Given the description of an element on the screen output the (x, y) to click on. 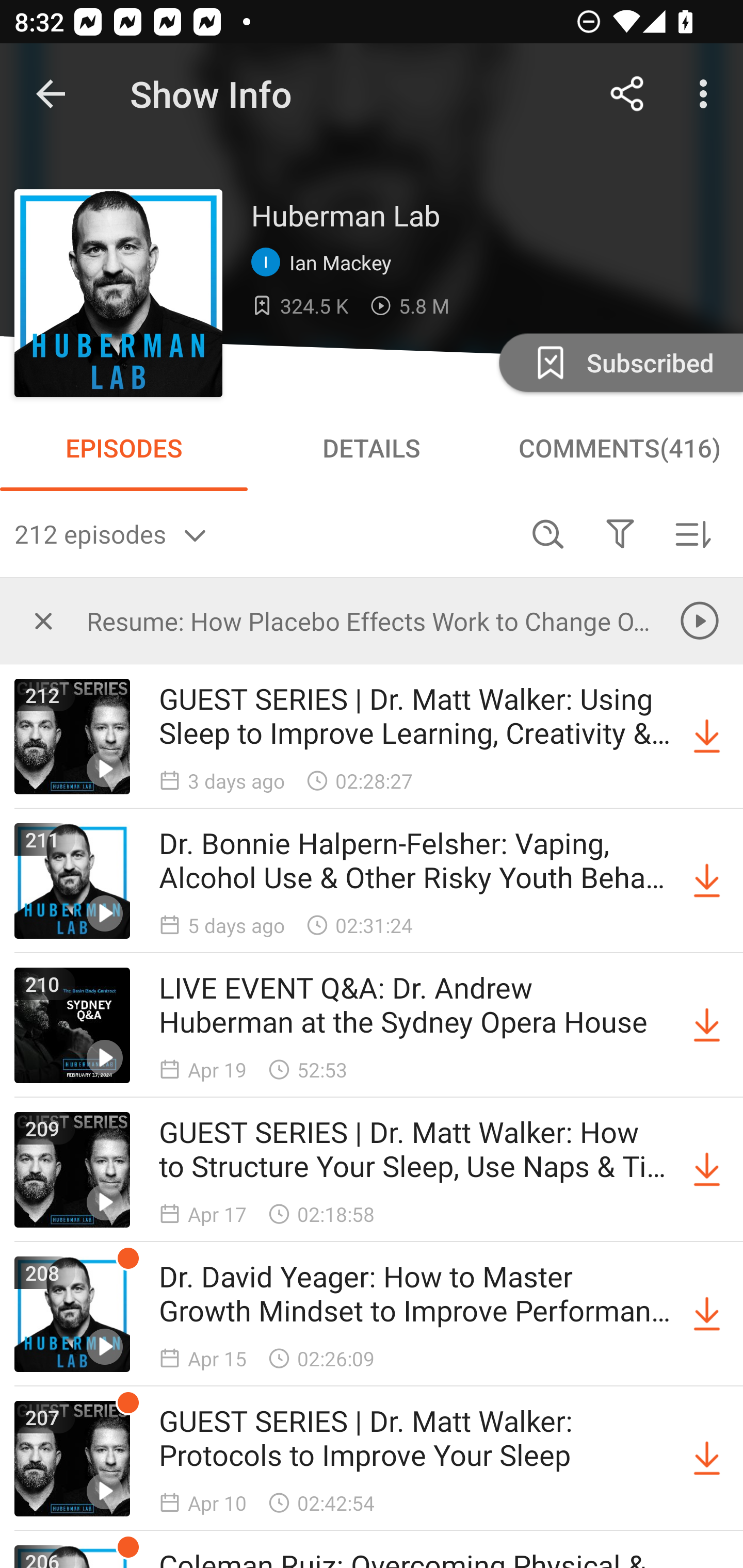
Navigate up (50, 93)
Share (626, 93)
More options (706, 93)
Ian Mackey (326, 262)
Unsubscribe Subscribed (619, 361)
EPISODES (123, 447)
DETAILS (371, 447)
COMMENTS(416) (619, 447)
212 episodes  (262, 533)
 Search (547, 533)
 (619, 533)
 Sorted by newest first (692, 533)
 (43, 620)
Download (706, 736)
Download (706, 881)
Download (706, 1025)
Download (706, 1169)
Download (706, 1313)
Download (706, 1458)
